Given the description of an element on the screen output the (x, y) to click on. 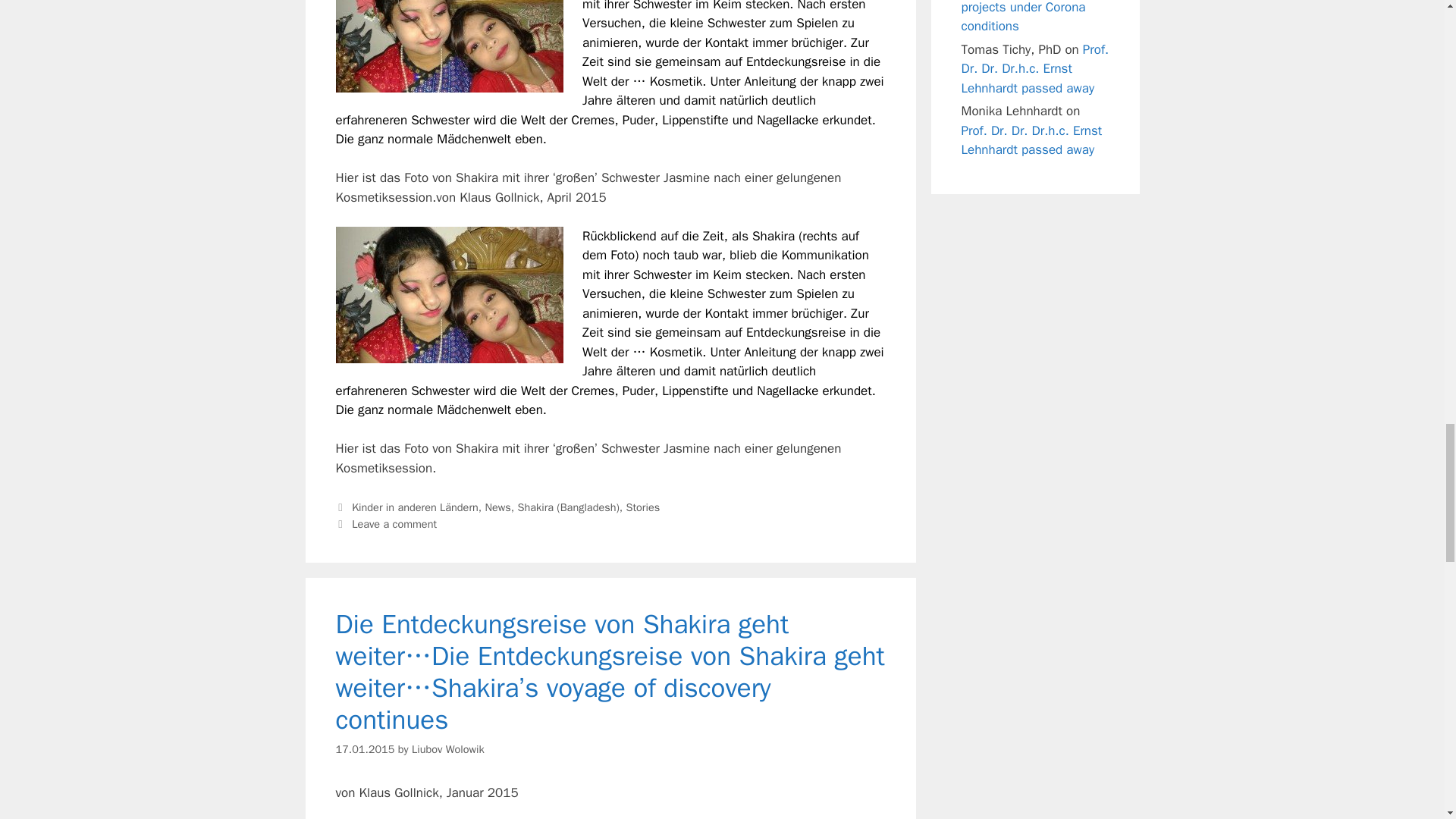
Leave a comment (394, 523)
News (497, 507)
Liubov Wolowik (448, 748)
View all posts by Liubov Wolowik (448, 748)
Stories (643, 507)
